Given the description of an element on the screen output the (x, y) to click on. 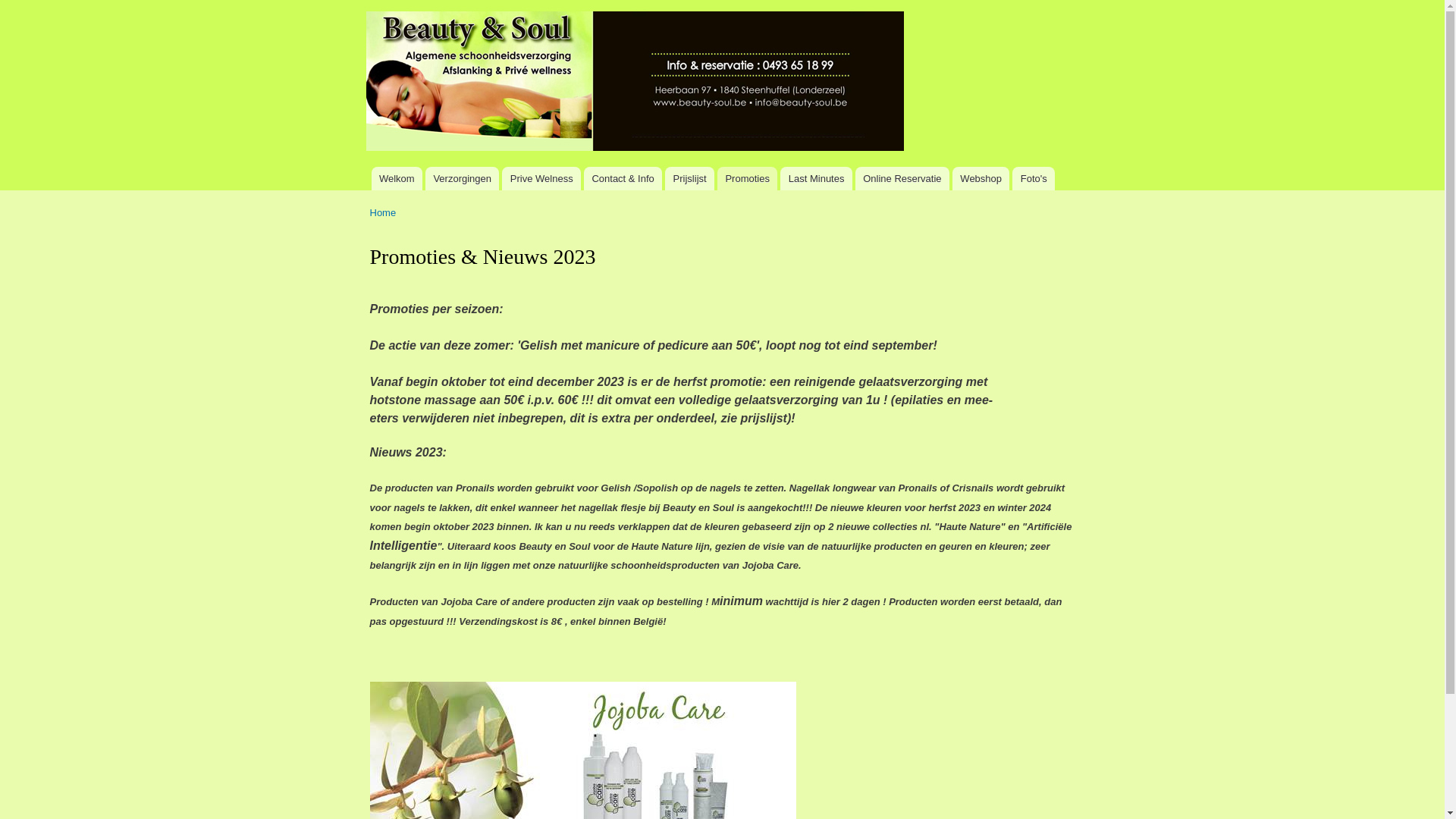
Home Element type: text (383, 212)
Home Element type: hover (635, 83)
Promoties Element type: text (747, 178)
Verzorgingen Element type: text (461, 178)
Last Minutes Element type: text (815, 178)
Online Reservatie Element type: text (902, 178)
Foto's Element type: text (1033, 178)
Prijslijst Element type: text (689, 178)
Webshop Element type: text (980, 178)
Welkom Element type: text (397, 178)
Overslaan en naar de inhoud gaan Element type: text (696, 1)
Contact & Info Element type: text (622, 178)
Prive Welness Element type: text (541, 178)
